Given the description of an element on the screen output the (x, y) to click on. 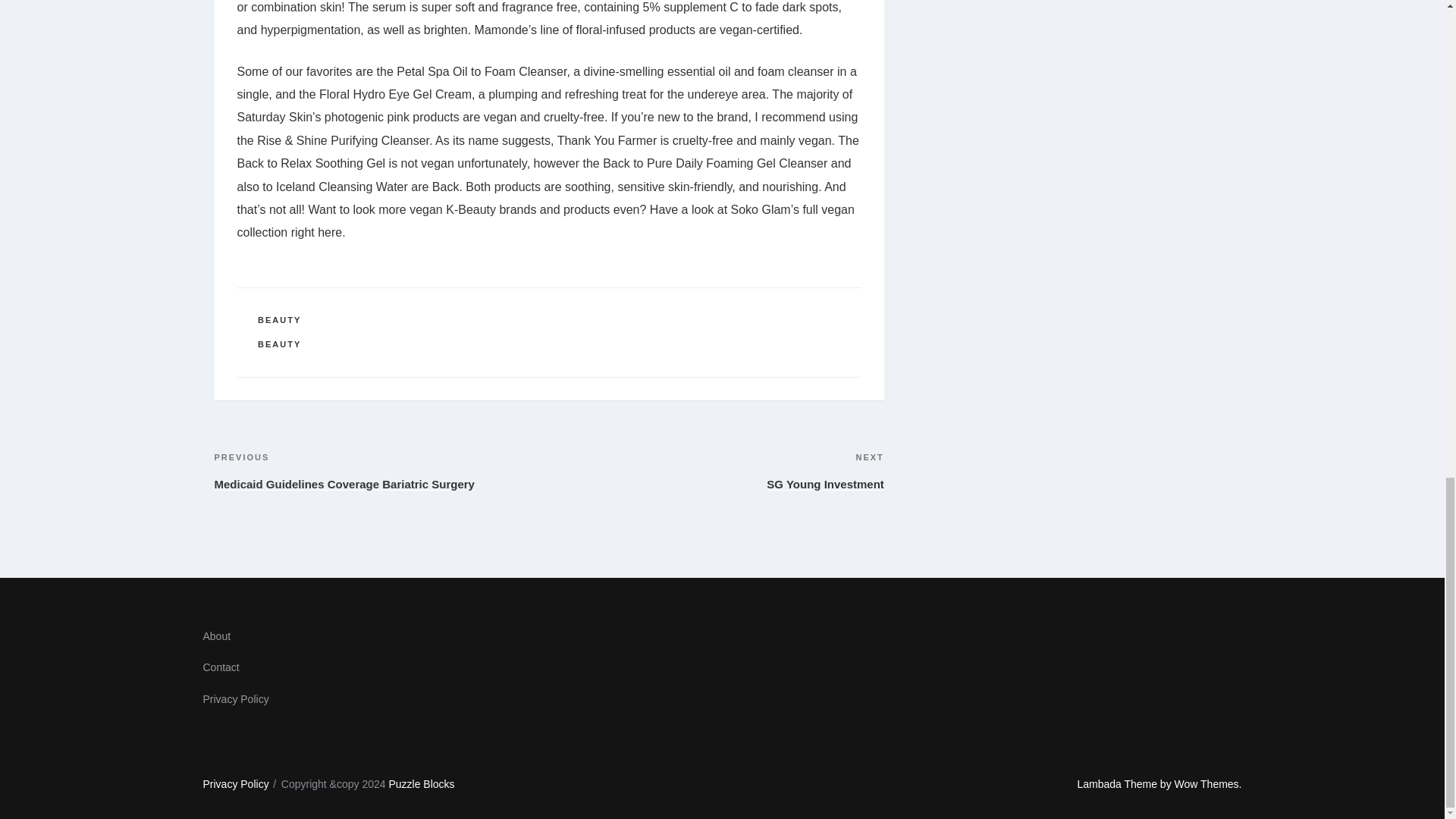
BEAUTY (279, 319)
BEAUTY (279, 343)
